Given the description of an element on the screen output the (x, y) to click on. 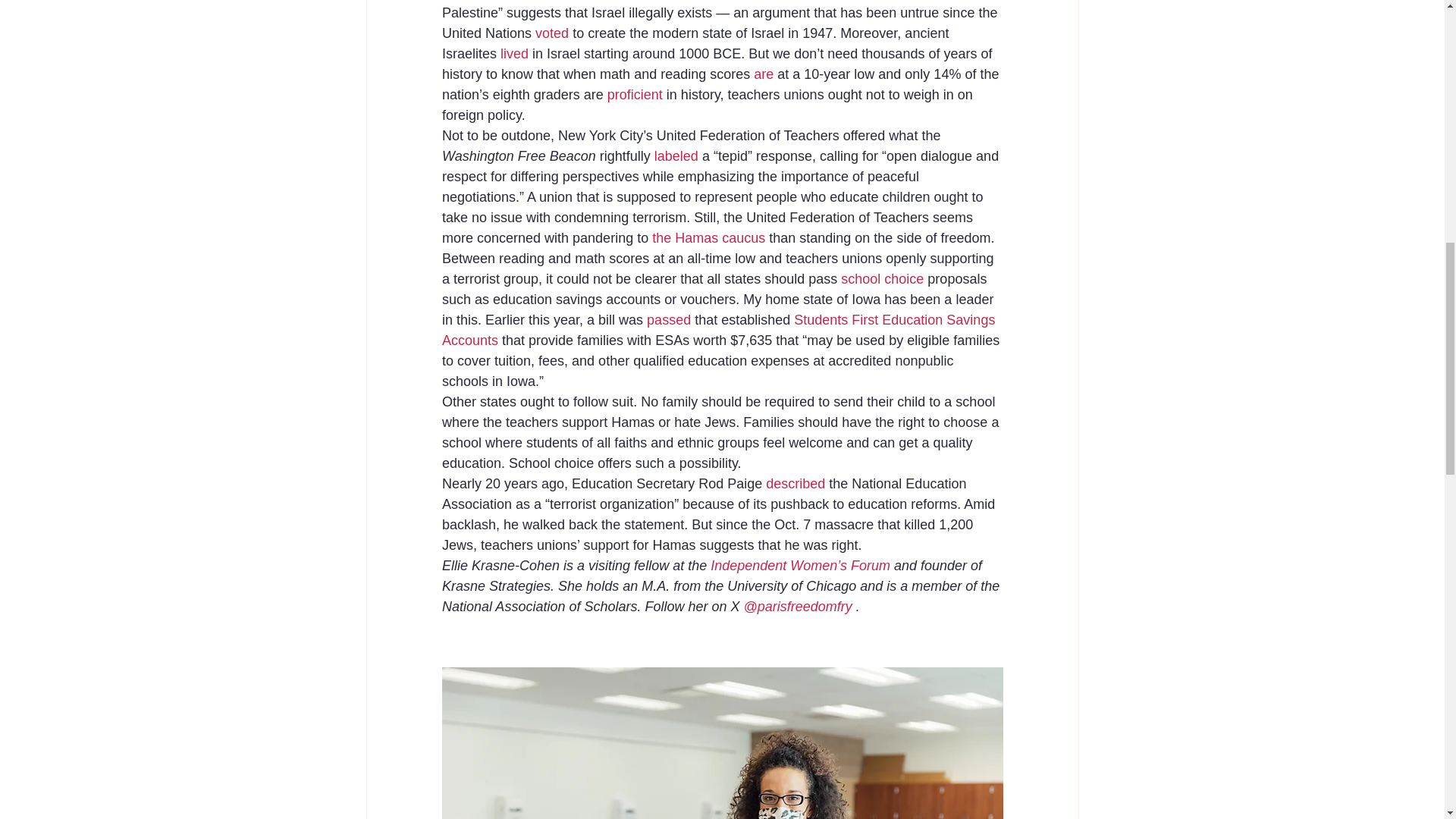
proficient  (636, 94)
the Hamas caucus (708, 237)
described (795, 483)
passed (668, 319)
Students First Education Savings Accounts (719, 330)
labeled (675, 155)
are (763, 73)
lived (514, 53)
voted (552, 32)
school choice (882, 278)
